Given the description of an element on the screen output the (x, y) to click on. 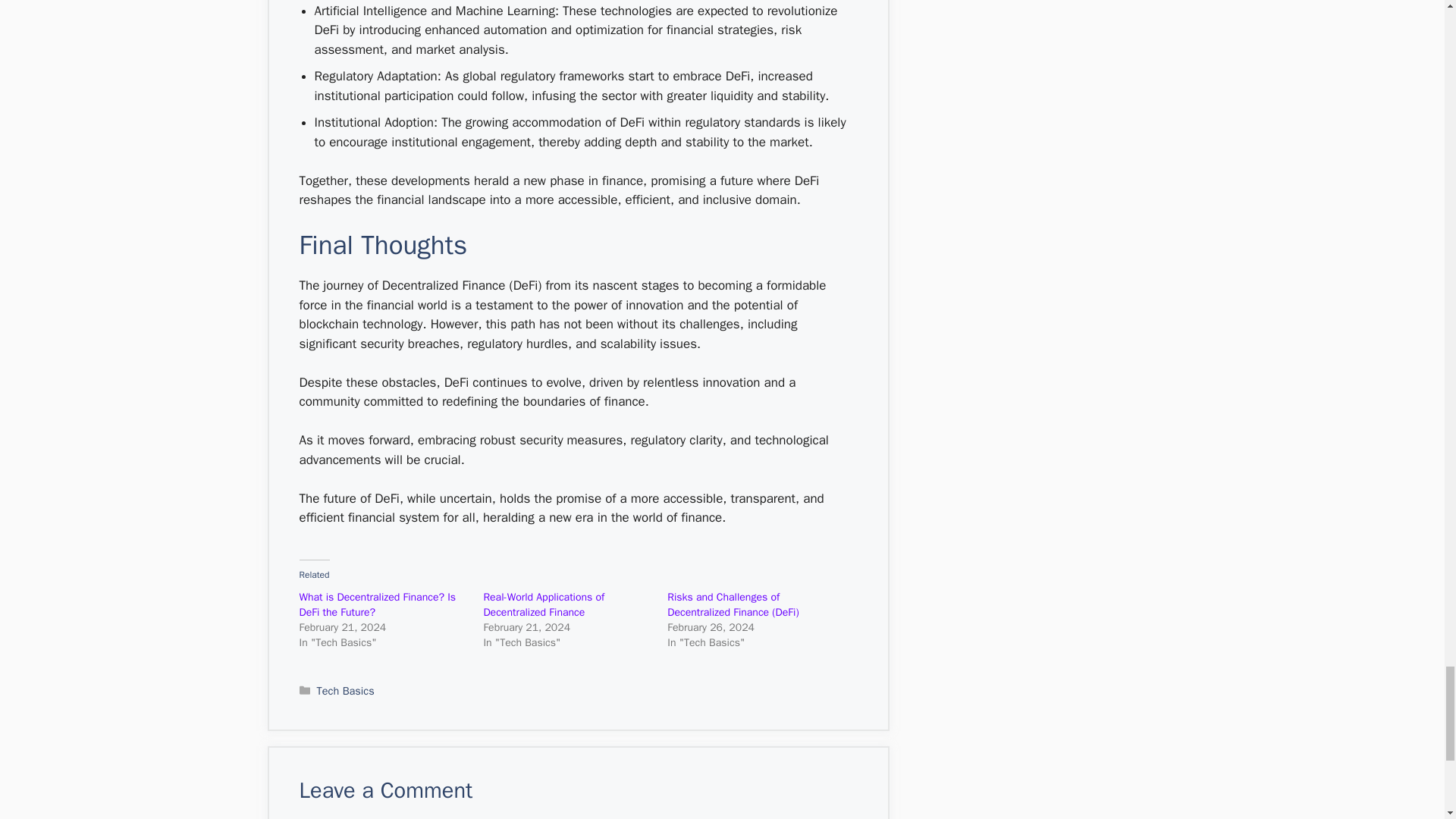
What is Decentralized Finance? Is DeFi the Future? (376, 604)
Real-World Applications of Decentralized Finance (543, 604)
Tech Basics (345, 690)
What is Decentralized Finance? Is DeFi the Future? (376, 604)
Real-World Applications of Decentralized Finance (543, 604)
